Given the description of an element on the screen output the (x, y) to click on. 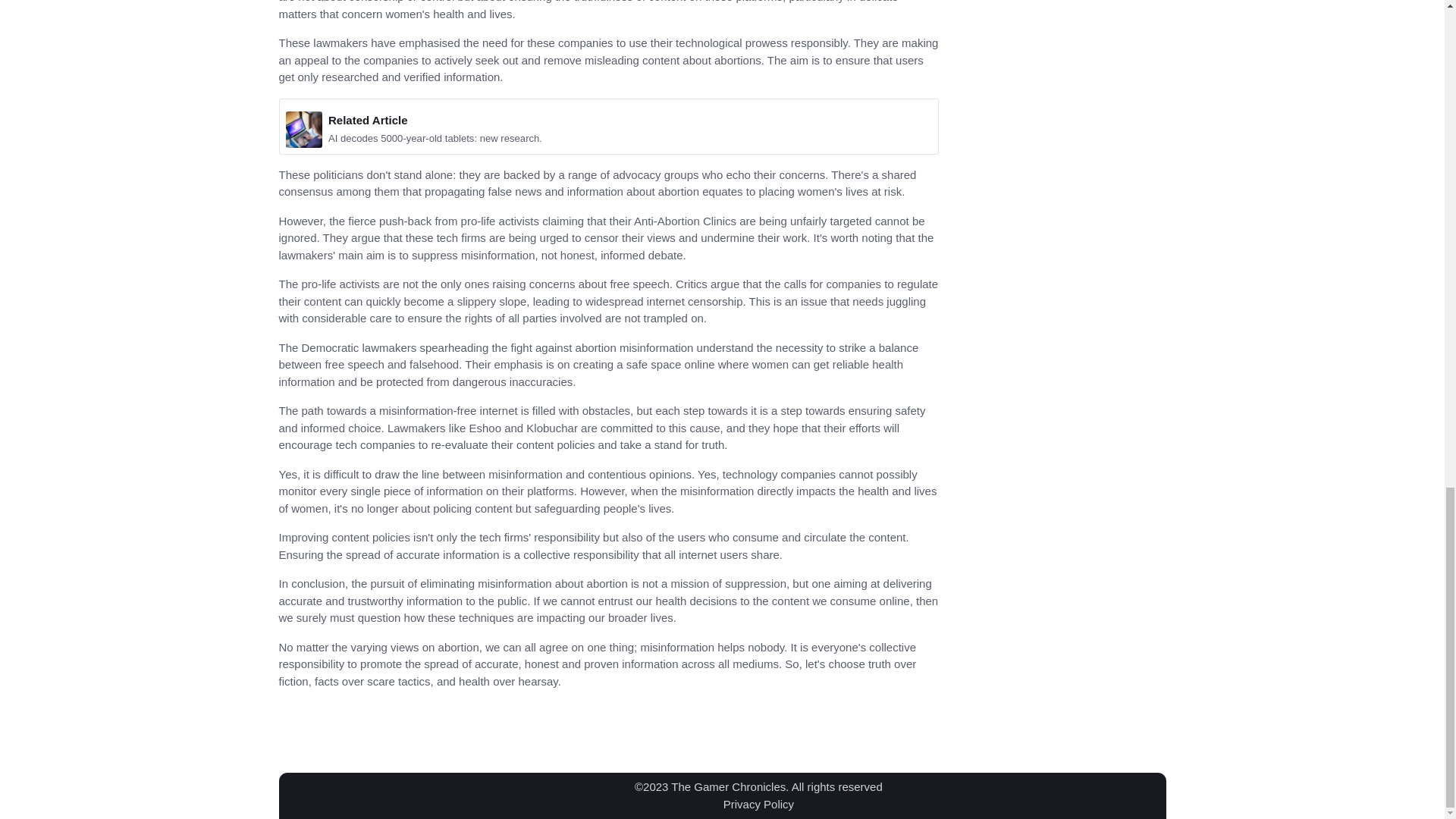
Privacy Policy (757, 802)
The Gamer Chronicles (728, 786)
